Given the description of an element on the screen output the (x, y) to click on. 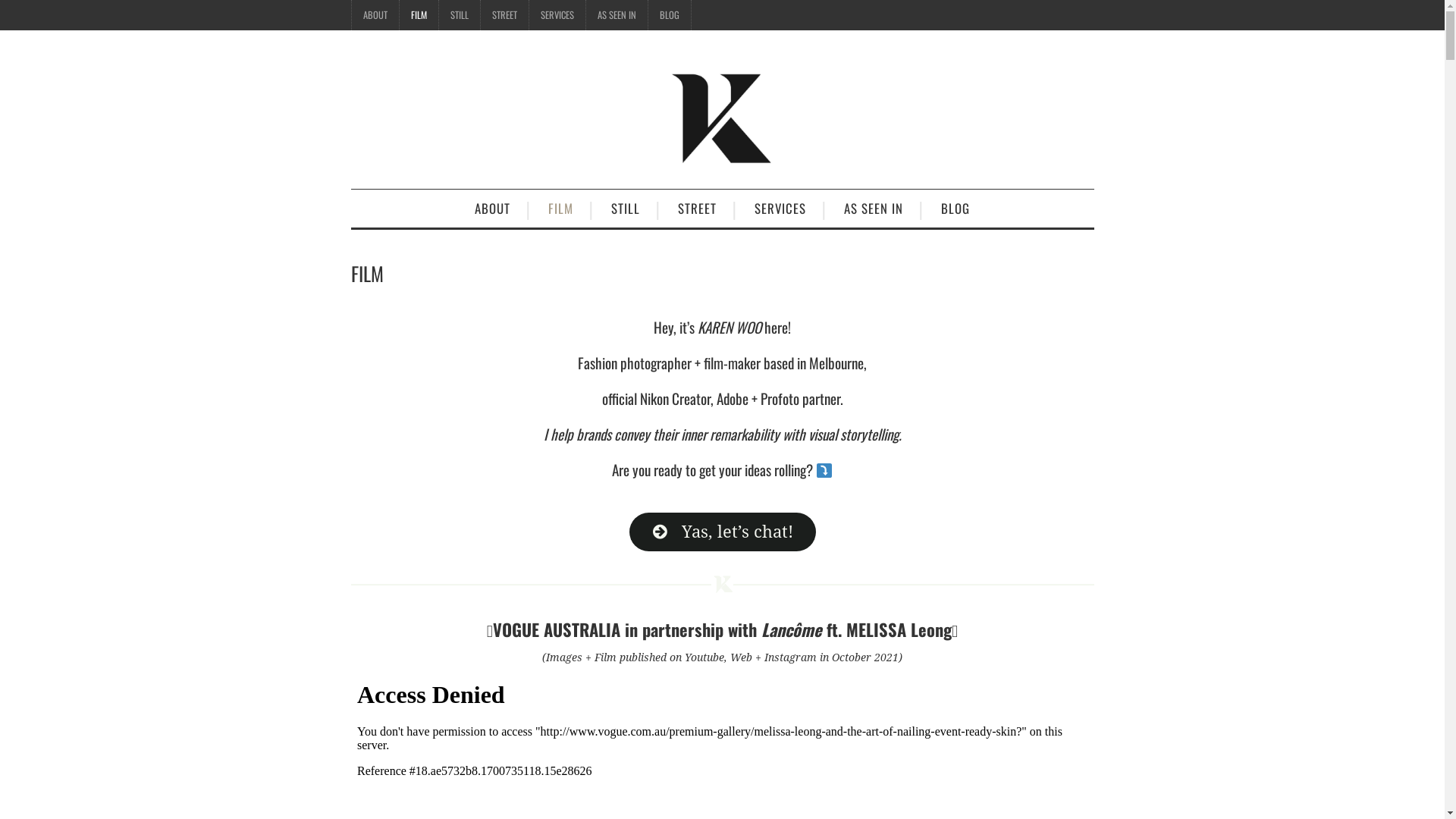
STREET Element type: text (696, 208)
STREET Element type: text (504, 15)
STILL Element type: text (458, 15)
ABOUT Element type: text (492, 208)
SERVICES Element type: text (557, 15)
Karen Woo Fashion Videographer Element type: hover (721, 115)
FILM Element type: text (560, 208)
BLOG Element type: text (668, 15)
ABOUT Element type: text (374, 15)
AS SEEN IN Element type: text (615, 15)
BLOG Element type: text (955, 208)
FILM Element type: text (417, 15)
STILL Element type: text (625, 208)
SERVICES Element type: text (780, 208)
AS SEEN IN Element type: text (873, 208)
